Given the description of an element on the screen output the (x, y) to click on. 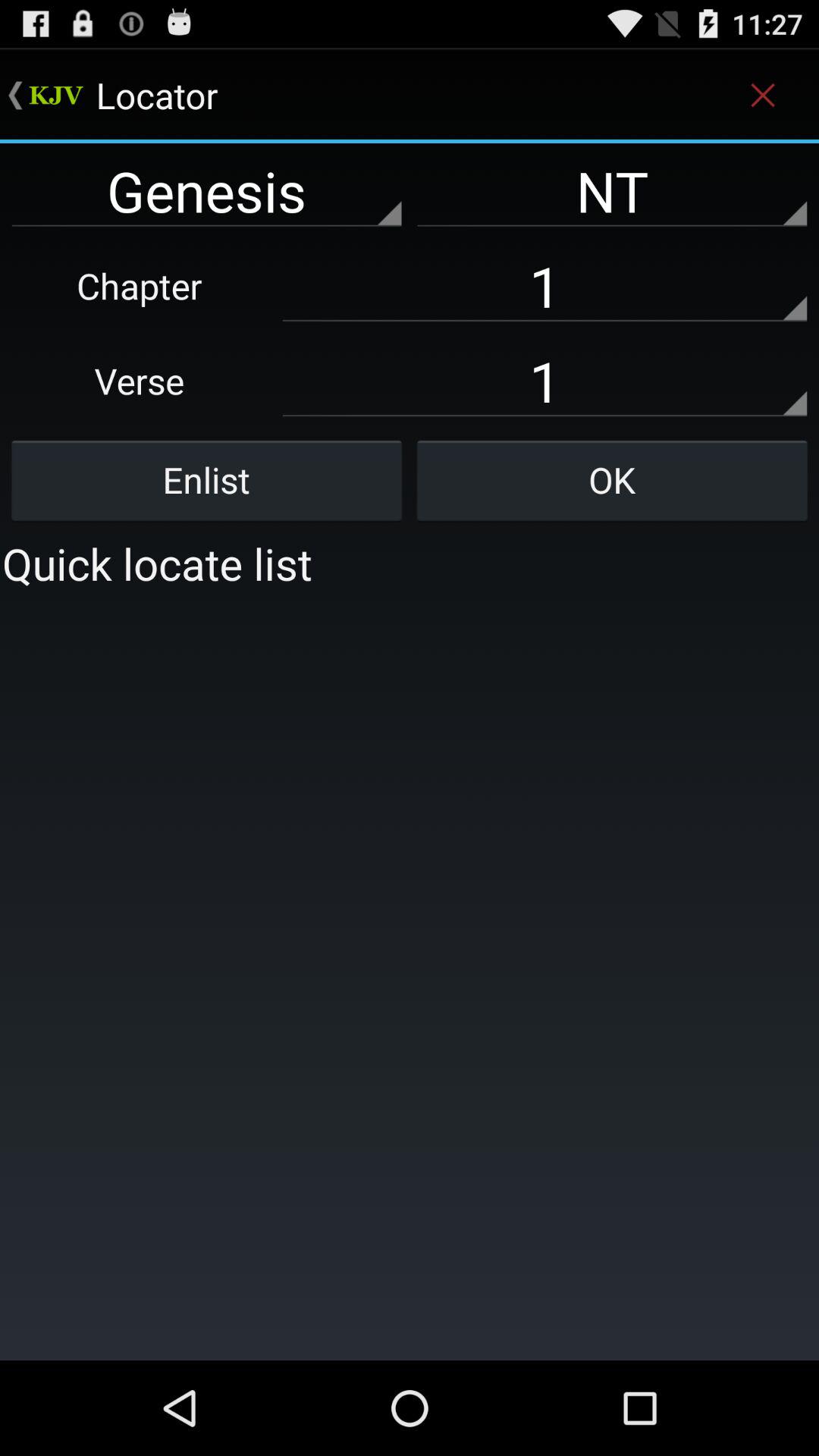
scroll to the ok icon (612, 479)
